Given the description of an element on the screen output the (x, y) to click on. 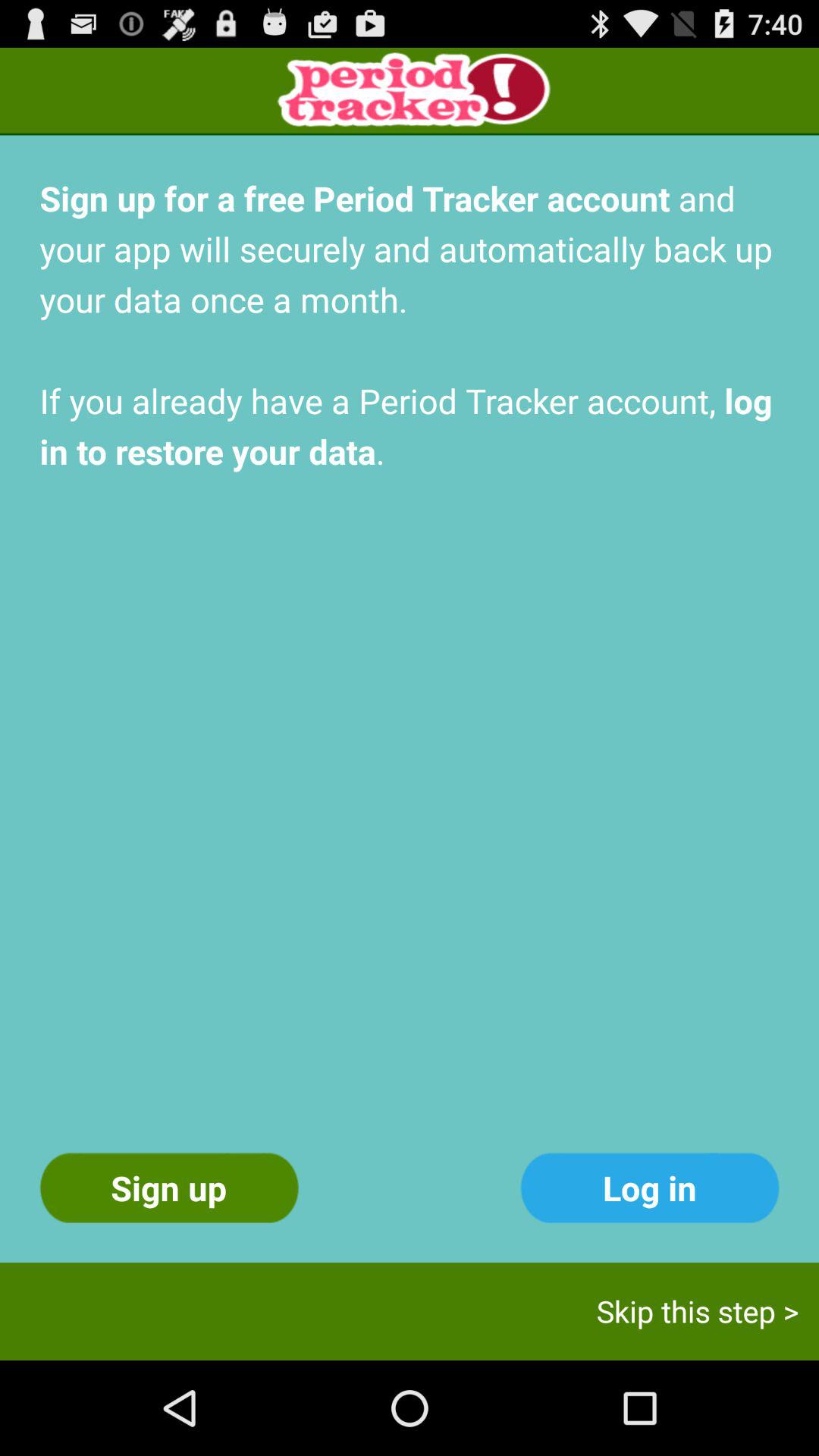
launch the app above the skip this step > app (649, 1187)
